Given the description of an element on the screen output the (x, y) to click on. 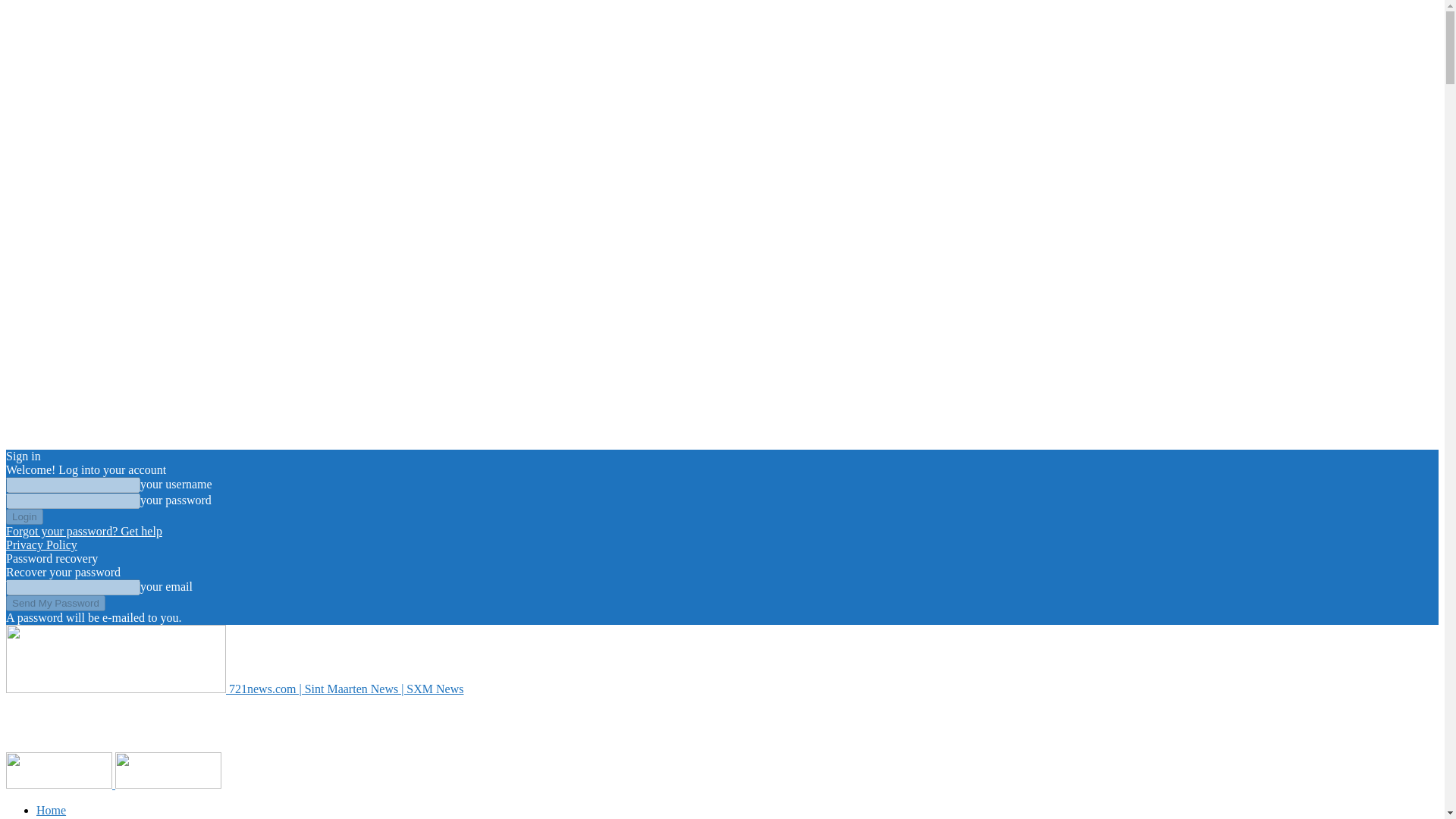
Privacy Policy (41, 544)
Forgot your password? Get help (83, 530)
Send My Password (54, 602)
Login (24, 516)
